Given the description of an element on the screen output the (x, y) to click on. 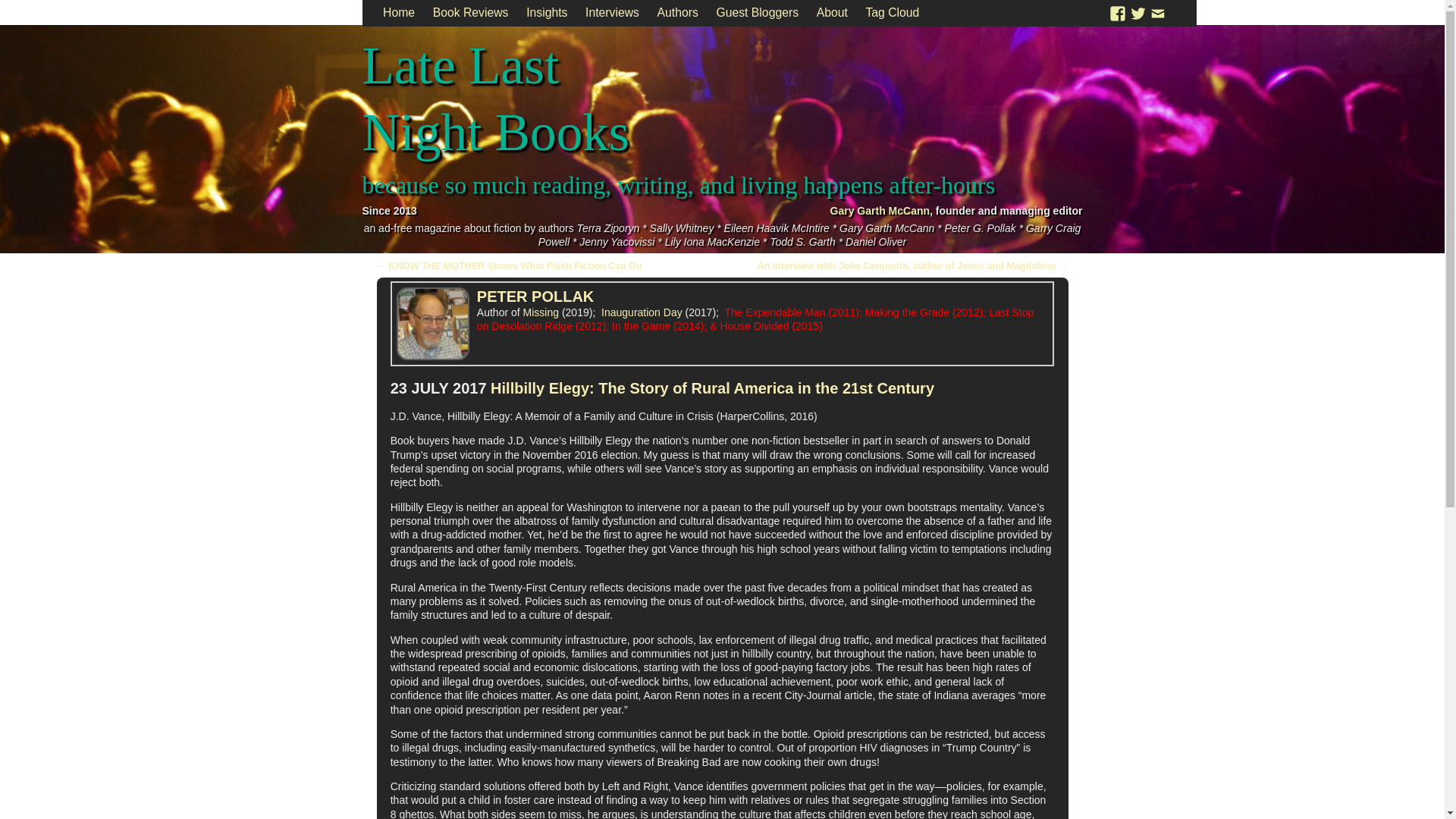
PETER POLLAK (535, 296)
Subscribe to receive email updates (1158, 12)
Interviews (611, 13)
Twitter (1138, 12)
Book Reviews (469, 13)
About (832, 13)
Insights (546, 13)
Authors (677, 13)
Inauguration Day (641, 312)
Home (398, 13)
Facebook: social networking (1117, 12)
Tag Cloud (892, 13)
Missing (540, 312)
Gary Garth McCann (879, 210)
